Given the description of an element on the screen output the (x, y) to click on. 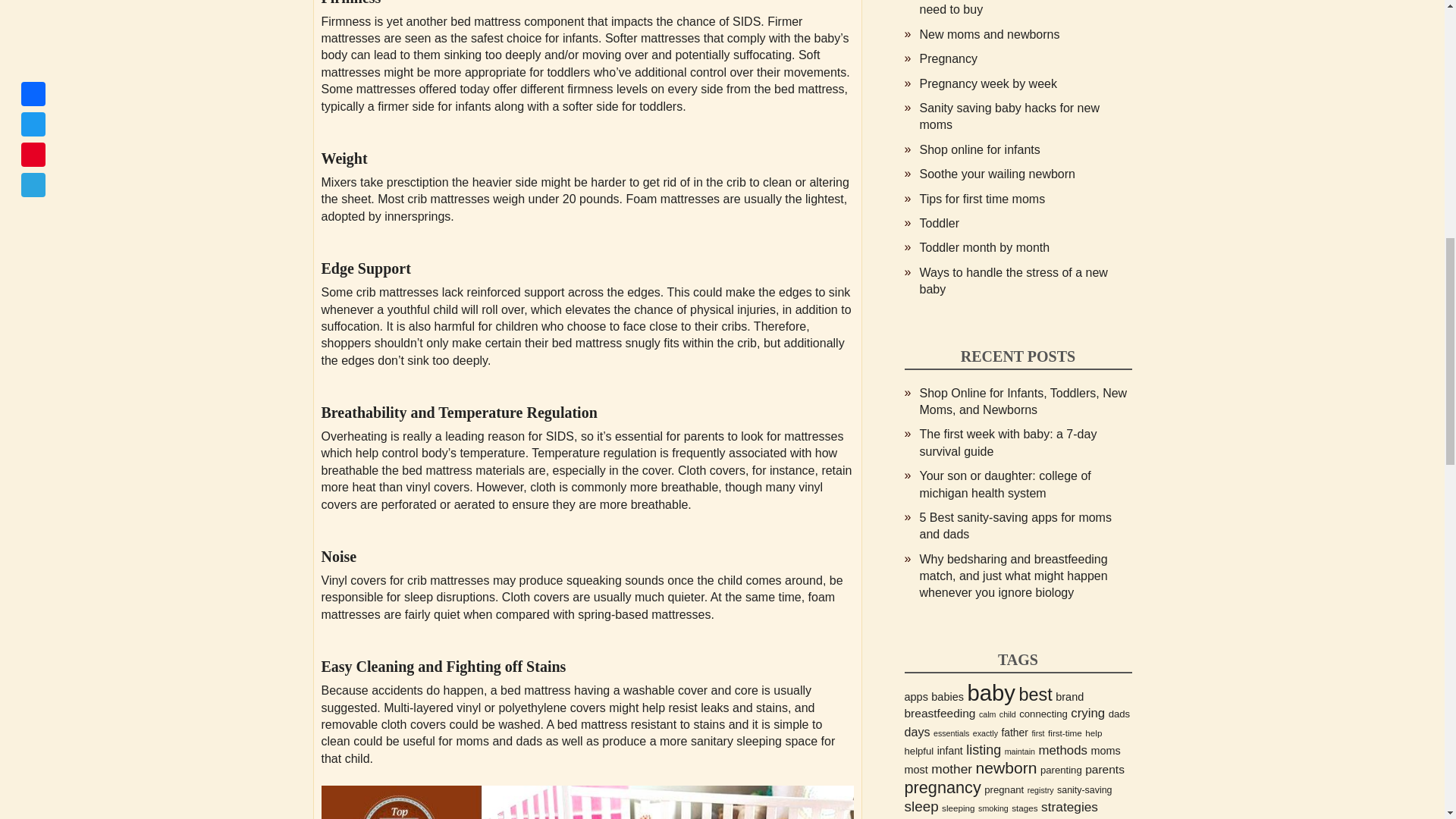
Pregnancy (947, 58)
New baby checklist everything you need to buy (1011, 7)
New moms and newborns (988, 33)
